Given the description of an element on the screen output the (x, y) to click on. 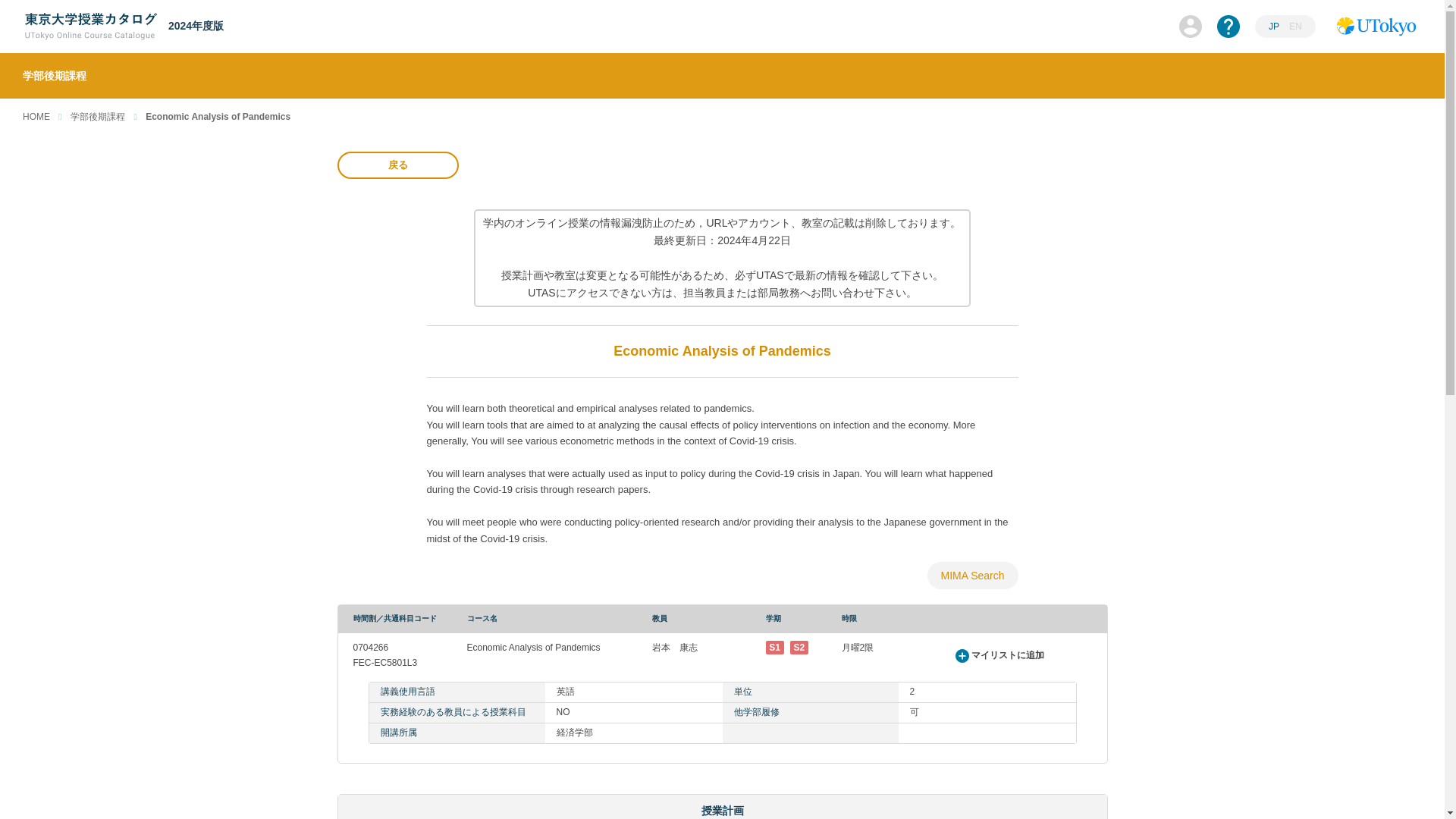
JP (1273, 26)
EN (1294, 26)
HOME (36, 116)
